Given the description of an element on the screen output the (x, y) to click on. 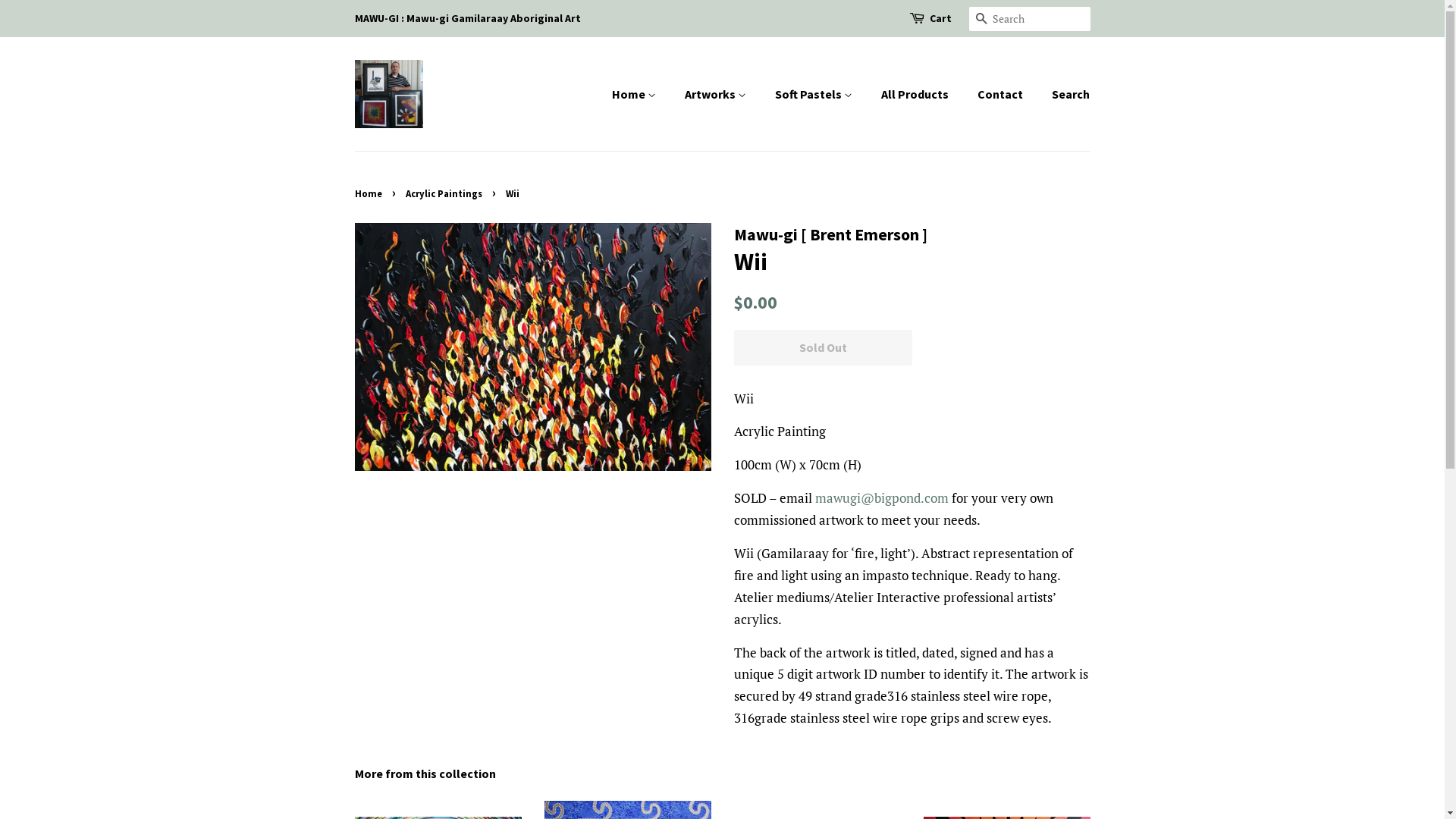
Search Element type: text (981, 18)
Contact Element type: text (1002, 93)
Home Element type: text (641, 93)
All Products Element type: text (916, 93)
Sold Out Element type: text (823, 347)
Search Element type: text (1064, 93)
Artworks Element type: text (717, 93)
mawugi@bigpond.com Element type: text (880, 497)
Acrylic Paintings Element type: text (444, 193)
Home Element type: text (369, 193)
Cart Element type: text (940, 18)
Soft Pastels Element type: text (815, 93)
